Given the description of an element on the screen output the (x, y) to click on. 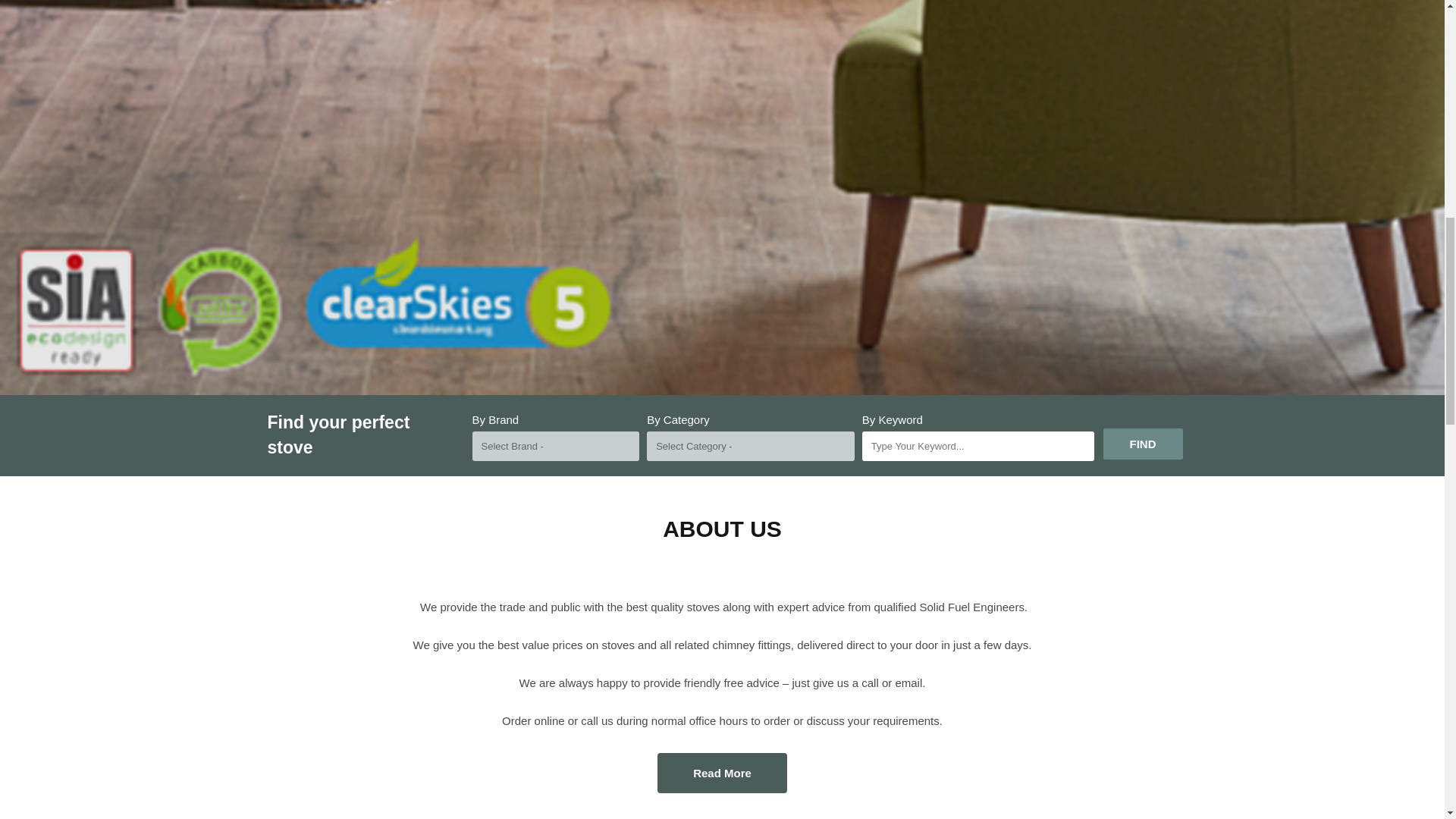
Find (1141, 443)
Read More (722, 772)
Find (1141, 443)
